Given the description of an element on the screen output the (x, y) to click on. 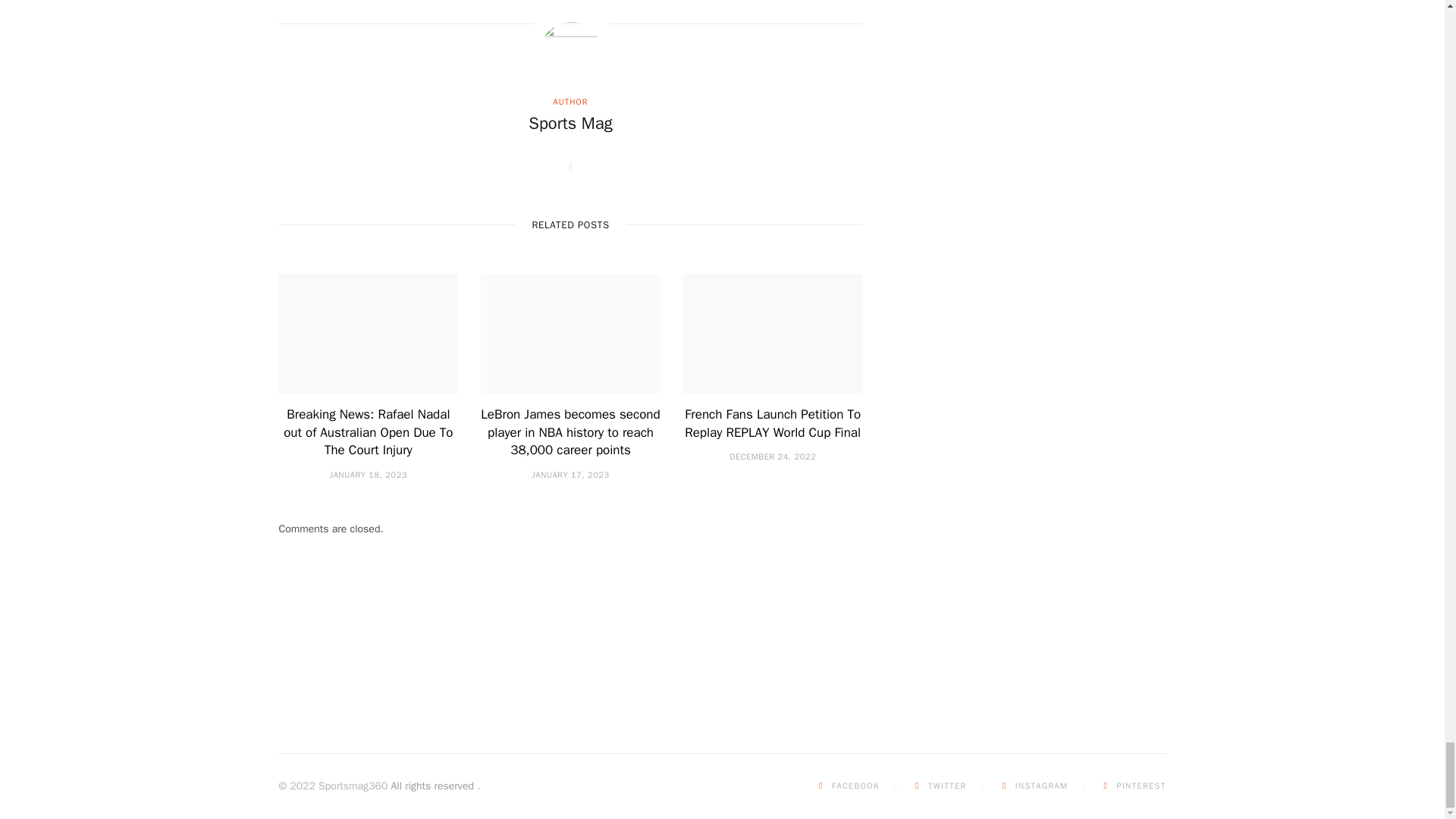
Posts by Sports Mag (569, 123)
Sports Mag (569, 123)
